Given the description of an element on the screen output the (x, y) to click on. 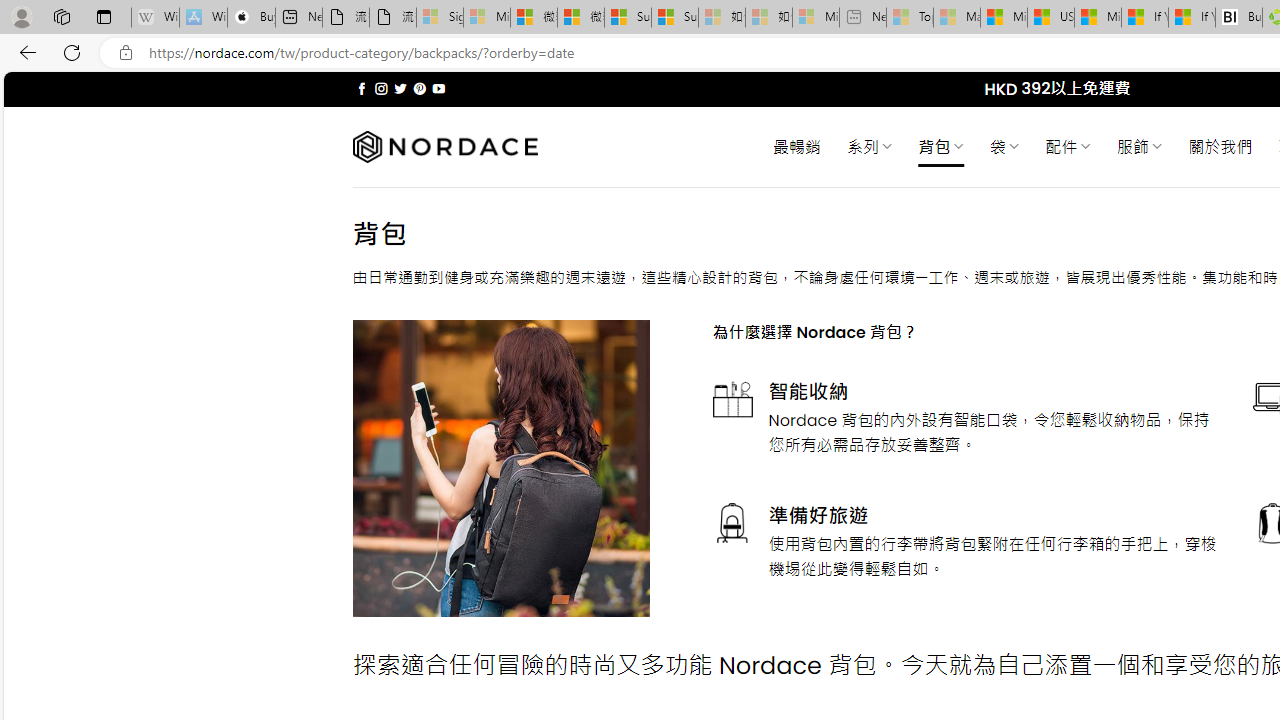
Follow on YouTube (438, 88)
US Heat Deaths Soared To Record High Last Year (1050, 17)
Microsoft account | Account Checkup - Sleeping (815, 17)
Marine life - MSN - Sleeping (957, 17)
Follow on Facebook (361, 88)
